Given the description of an element on the screen output the (x, y) to click on. 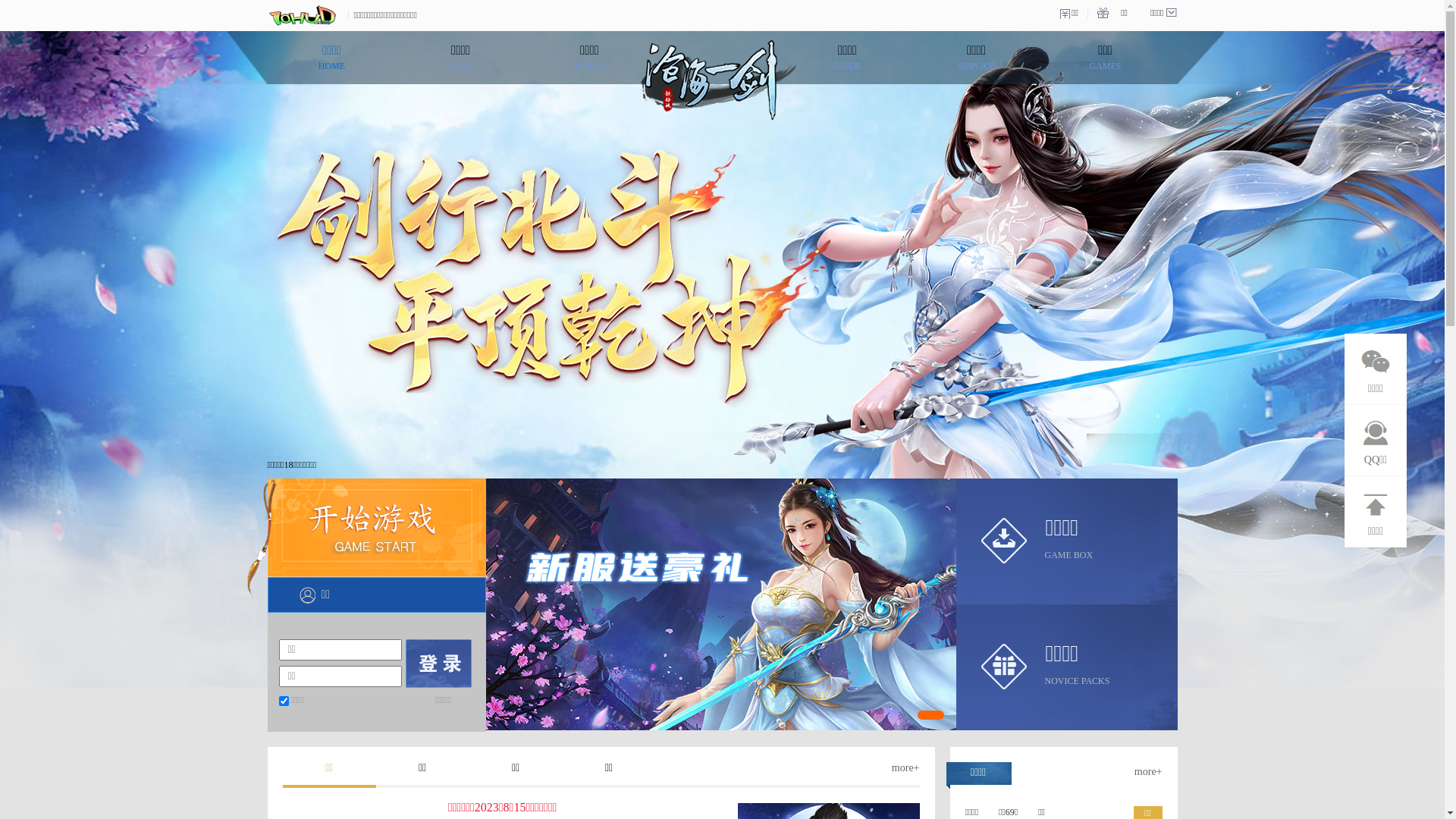
1 Element type: hover (720, 604)
more+ Element type: text (1148, 771)
more+ Element type: text (905, 767)
